Given the description of an element on the screen output the (x, y) to click on. 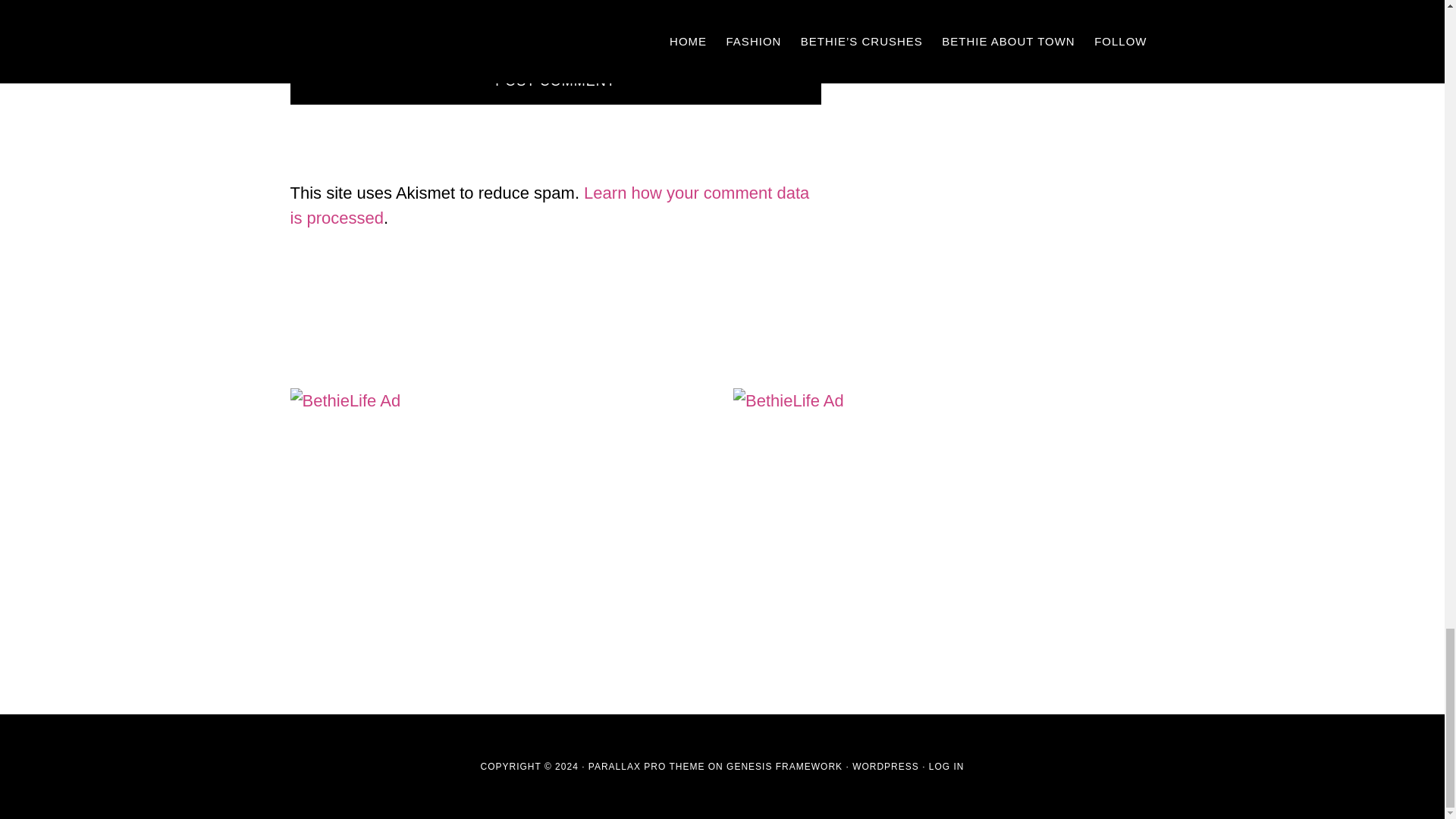
Post Comment (555, 81)
Learn how your comment data is processed (549, 205)
PARALLAX PRO THEME (646, 766)
GENESIS FRAMEWORK (784, 766)
Post Comment (555, 81)
WORDPRESS (884, 766)
